Given the description of an element on the screen output the (x, y) to click on. 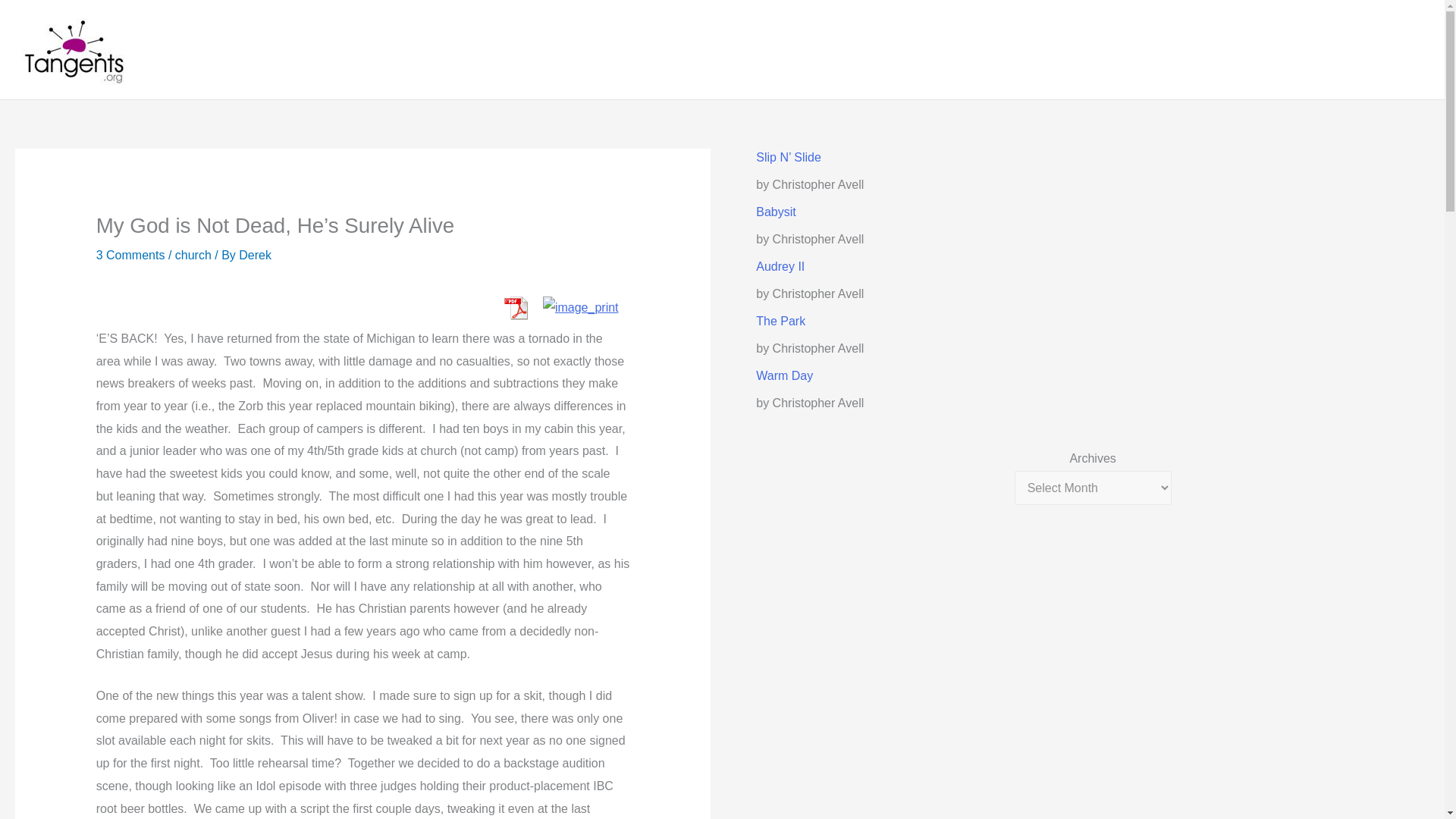
church (192, 254)
Derek (254, 254)
View all posts by Derek (254, 254)
Audrey II (780, 266)
The Park (780, 320)
Warm Day (783, 375)
3 Comments (130, 254)
Print Content (580, 307)
View PDF (515, 307)
Babysit (774, 211)
